Given the description of an element on the screen output the (x, y) to click on. 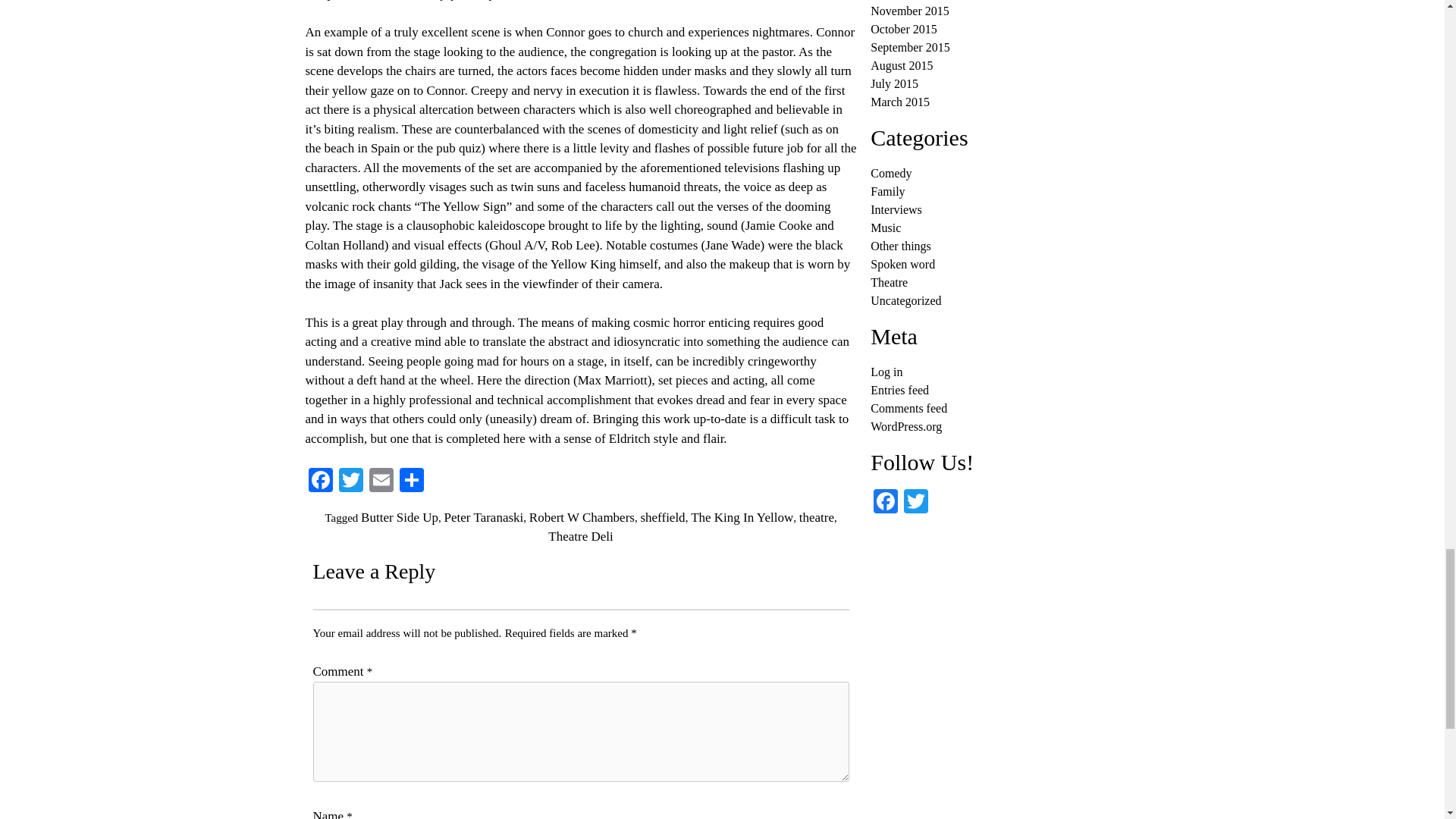
Theatre Deli (580, 536)
The King In Yellow (741, 517)
sheffield (662, 517)
Facebook (319, 481)
Twitter (349, 481)
Butter Side Up (399, 517)
Twitter (349, 481)
Email (380, 481)
Twitter (916, 502)
theatre (816, 517)
Peter Taranaski (484, 517)
Email (380, 481)
Facebook (885, 502)
Facebook (319, 481)
Robert W Chambers (581, 517)
